Given the description of an element on the screen output the (x, y) to click on. 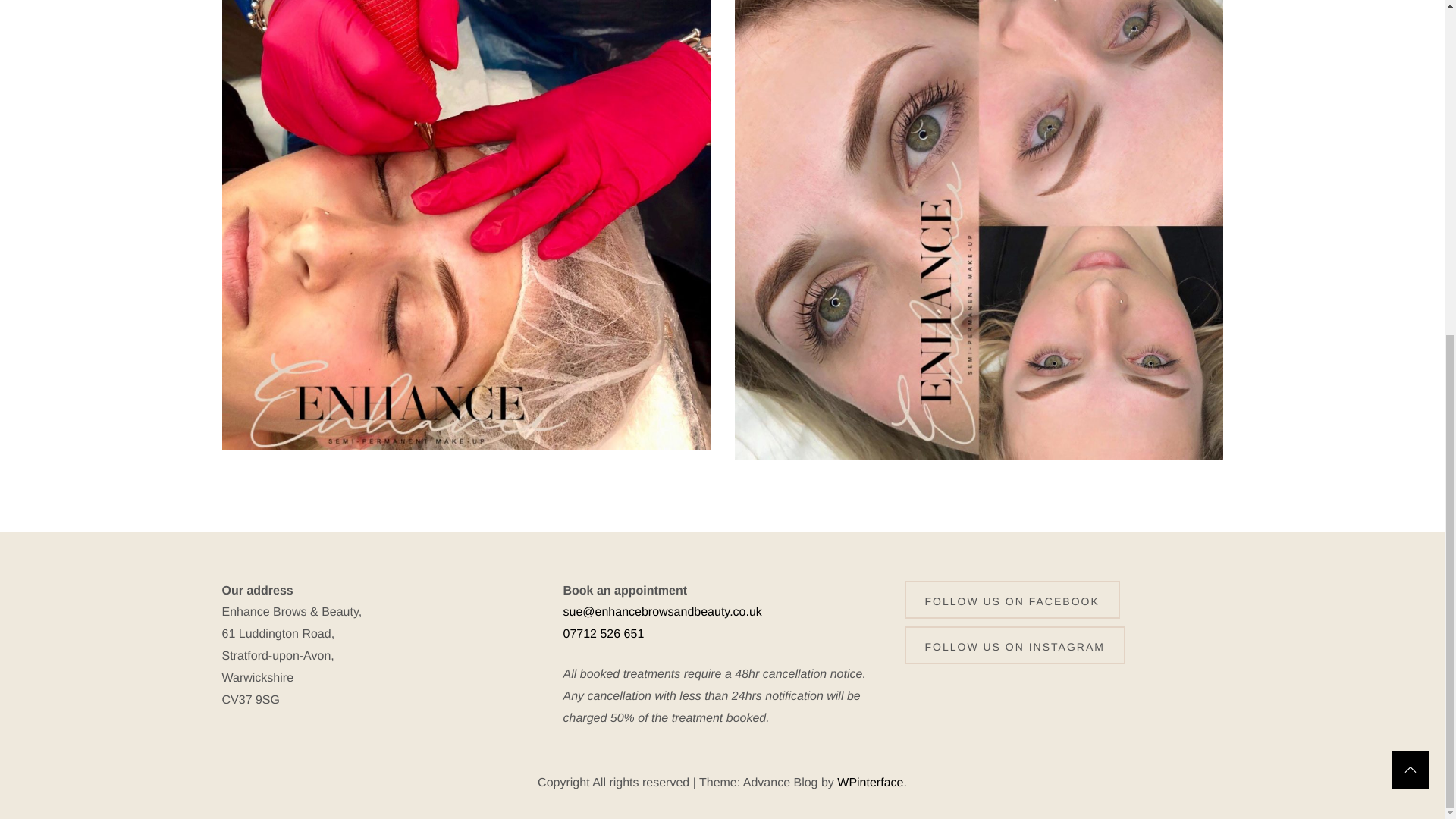
FOLLOW US ON FACEBOOK (1011, 599)
07712 526 651 (602, 634)
FOLLOW US ON INSTAGRAM (1014, 645)
WPinterface (869, 782)
